Given the description of an element on the screen output the (x, y) to click on. 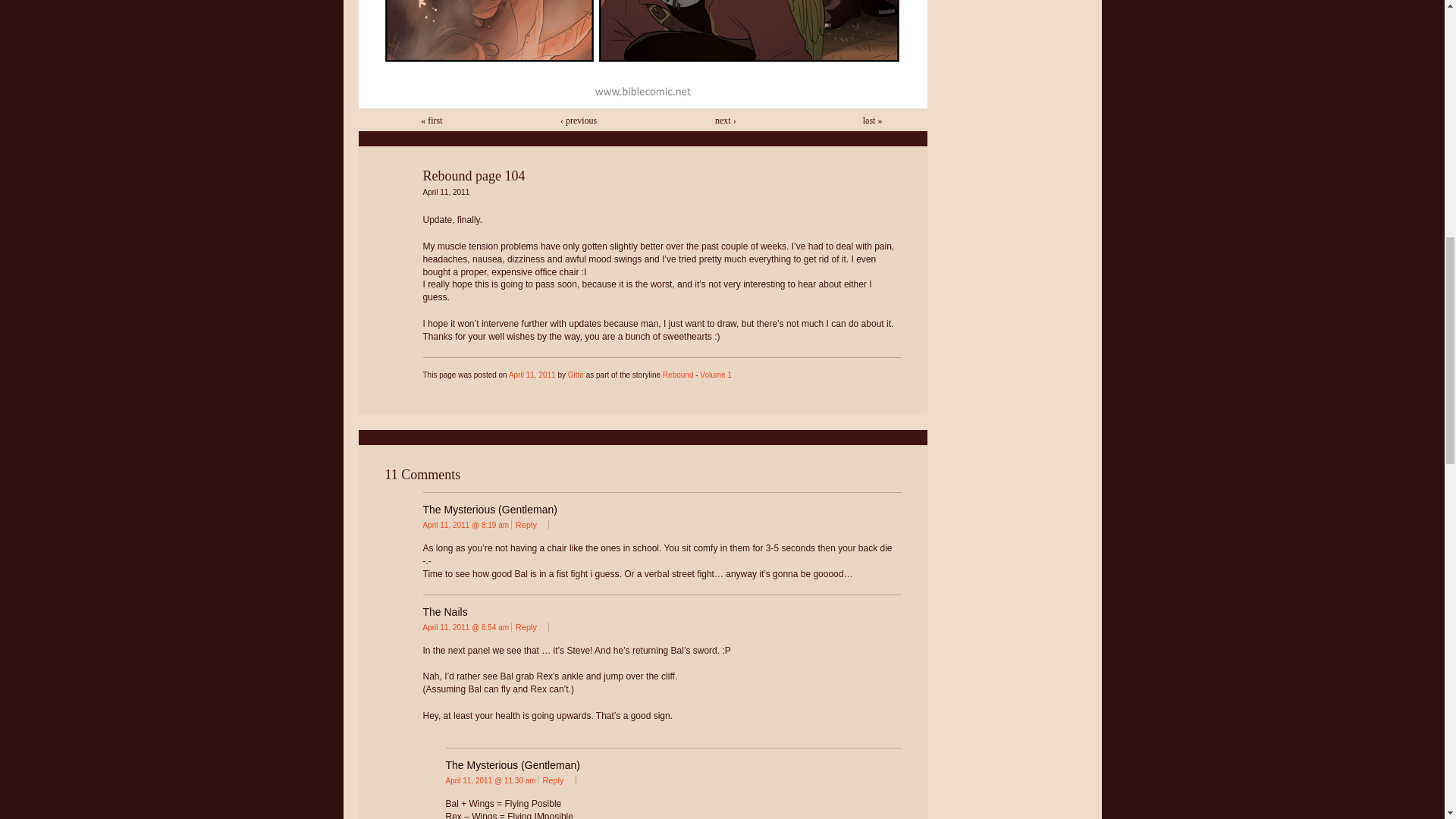
Volume 1 (716, 375)
Reply (556, 779)
April 11, 2011 (532, 375)
Gitte (575, 375)
Rebound (678, 375)
Reply (529, 524)
Reply (529, 626)
